Given the description of an element on the screen output the (x, y) to click on. 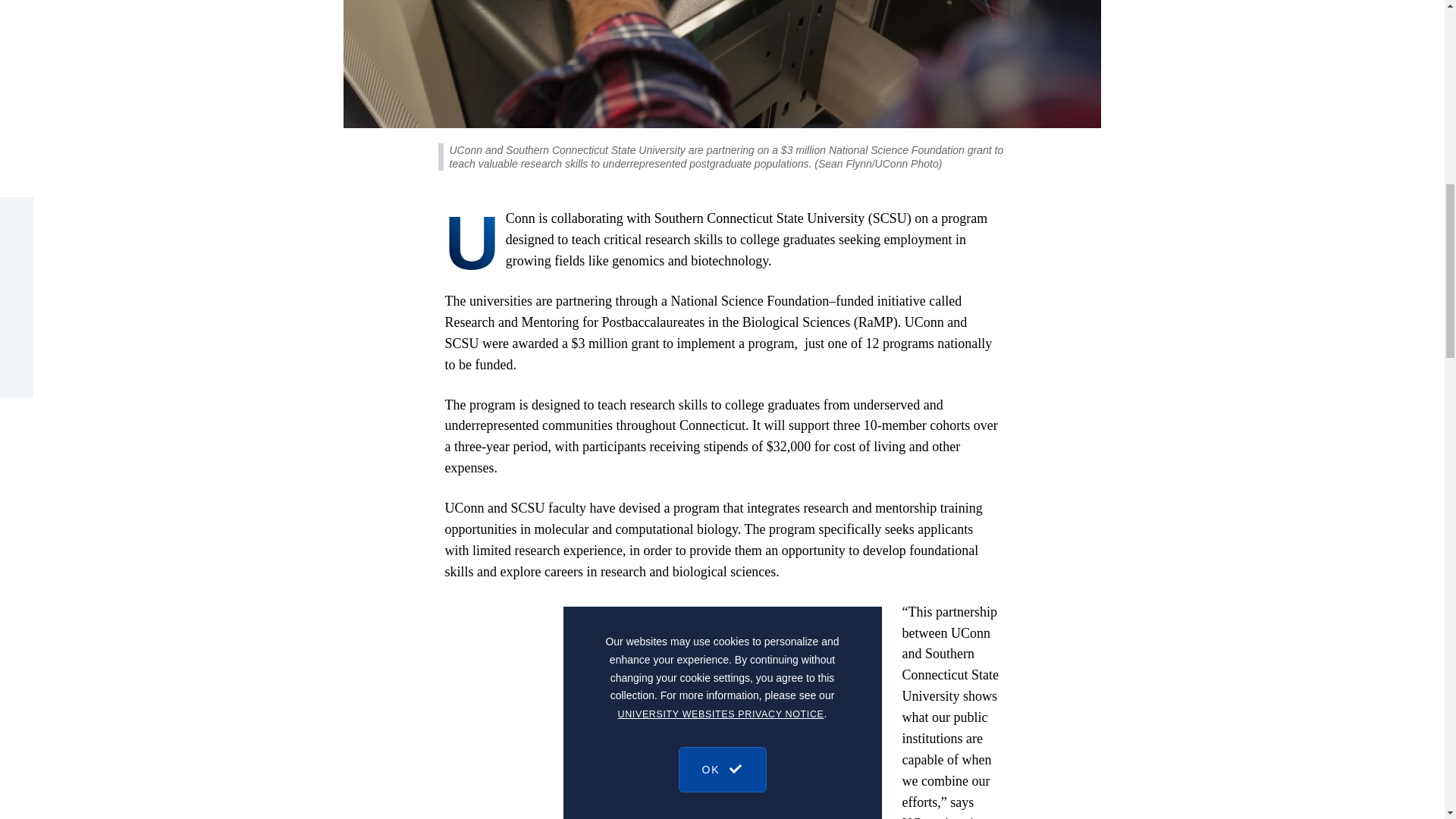
UNIVERSITY WEBSITES PRIVACY NOTICE (720, 99)
OK (721, 137)
